Given the description of an element on the screen output the (x, y) to click on. 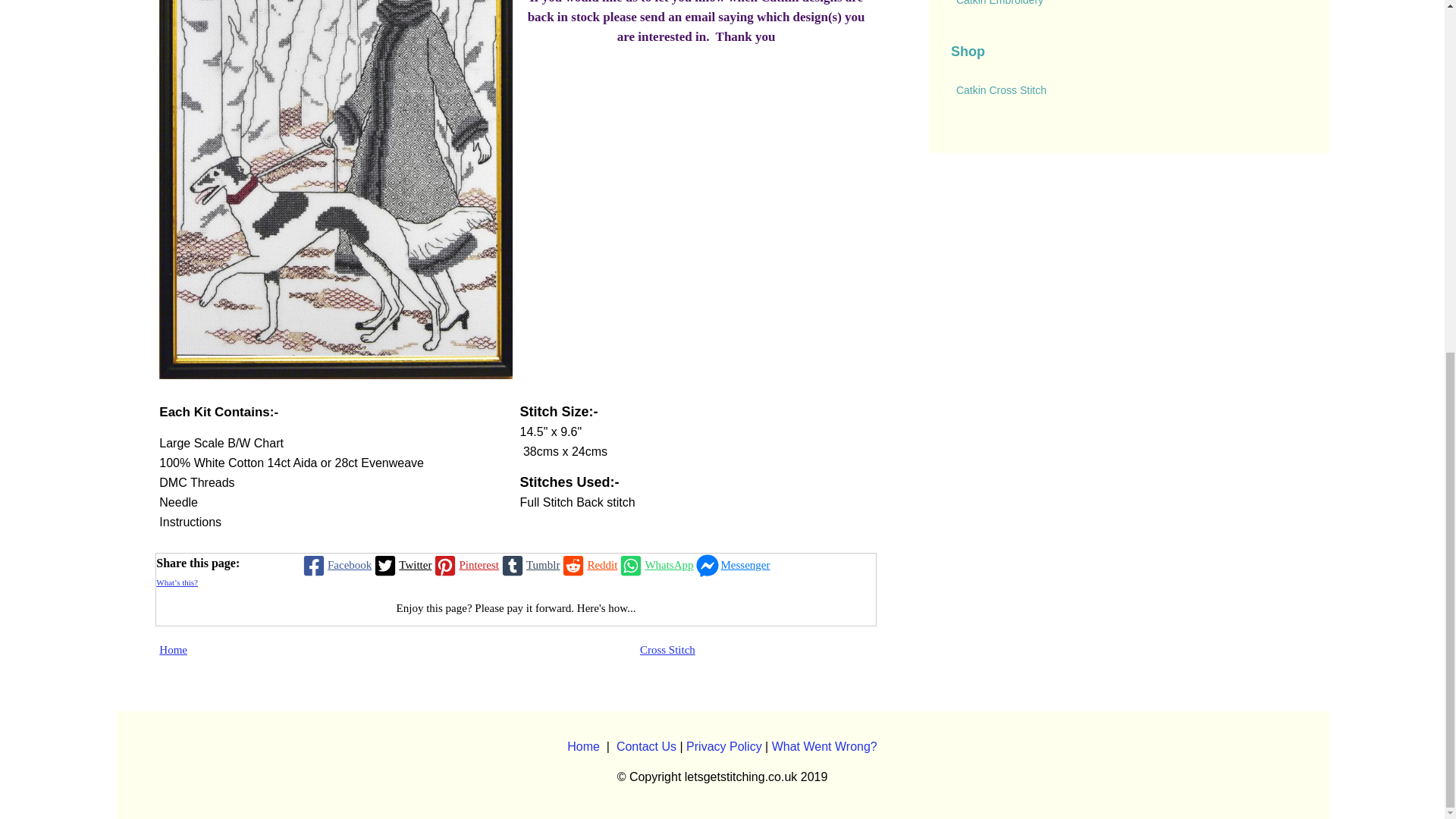
What Went Wrong? (824, 746)
Messenger (732, 565)
Tumblr (529, 565)
Privacy Policy (723, 746)
Cross Stitch (667, 649)
Home (172, 649)
Contact Us (646, 746)
Pinterest (464, 565)
Facebook (335, 565)
Catkin Cross Stitch (1128, 90)
Catkin Embroidery (1128, 7)
WhatsApp (655, 565)
Home (583, 746)
Reddit (588, 565)
Twitter (400, 565)
